Given the description of an element on the screen output the (x, y) to click on. 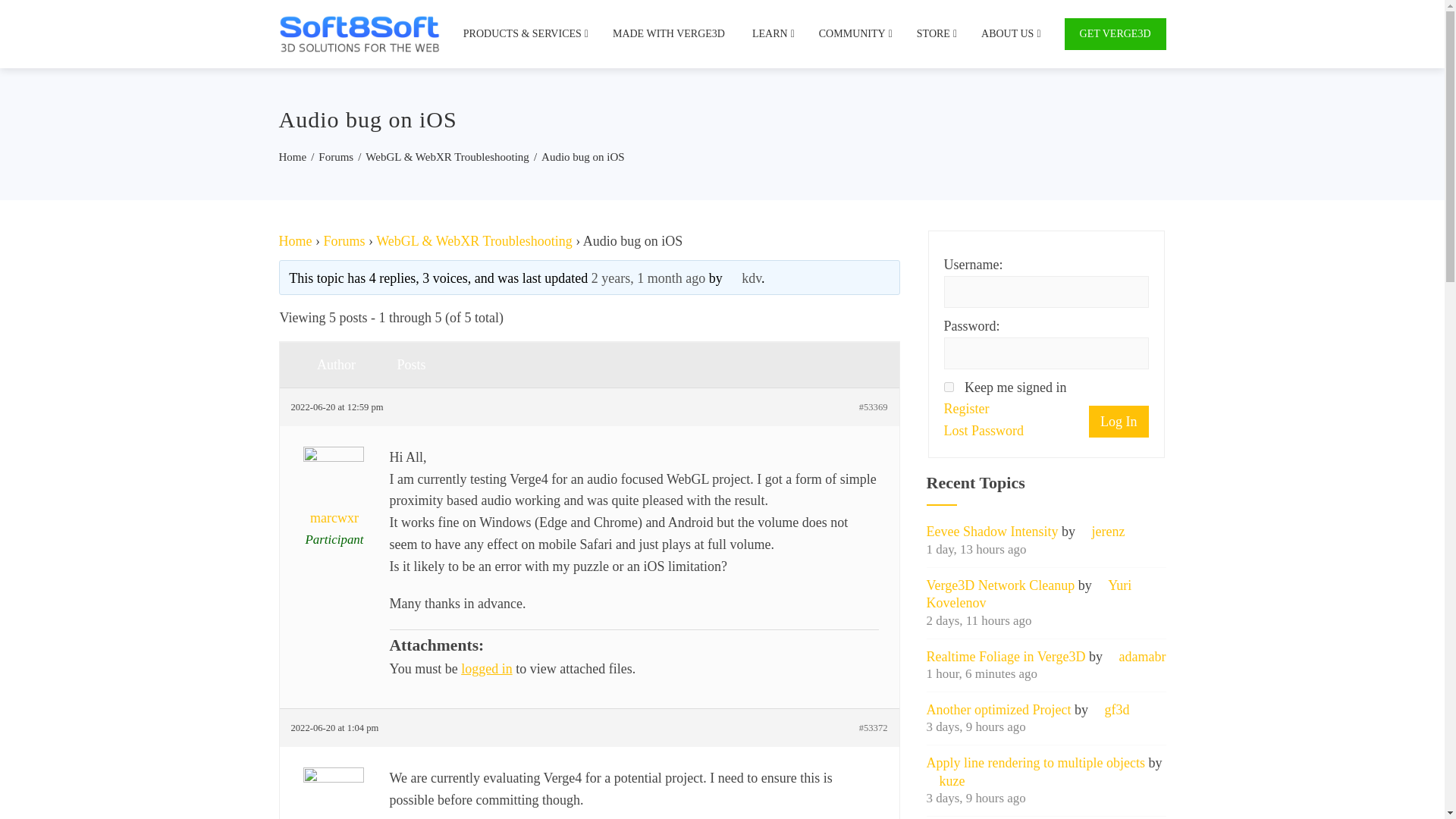
View marcwxr's profile (334, 496)
Register (966, 409)
View kdv's profile (743, 278)
forever (948, 387)
STORE (935, 33)
Lost Password (984, 431)
View kuze's profile (945, 780)
View marcwxr's profile (334, 801)
View adamabr's profile (1135, 656)
LEARN (772, 33)
COMMUNITY (854, 33)
View Yuri Kovelenov's profile (1029, 594)
View gf3d's profile (1110, 709)
MADE WITH VERGE3D (668, 33)
View jerenz's profile (1101, 531)
